Given the description of an element on the screen output the (x, y) to click on. 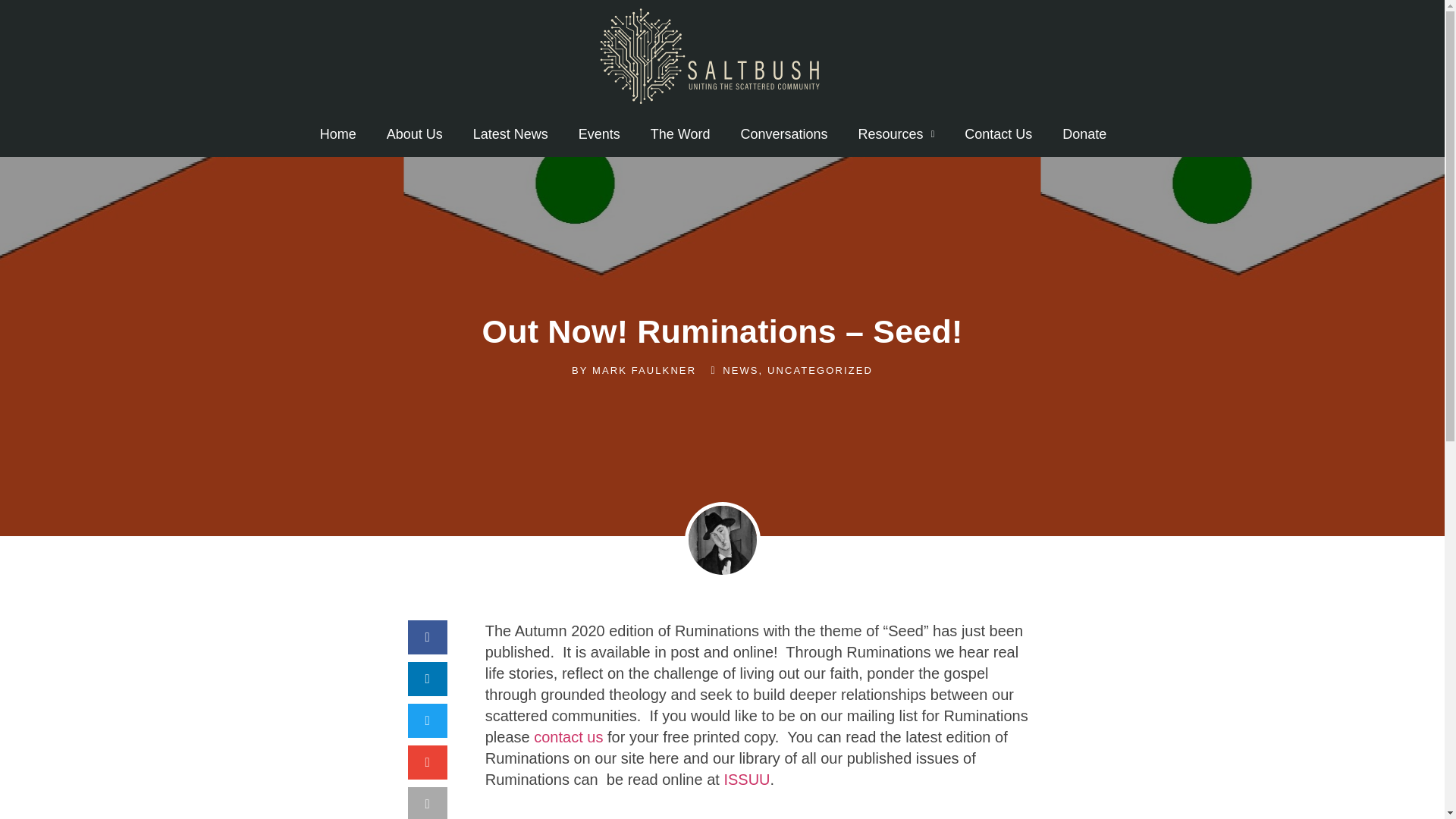
Latest News (510, 133)
About Us (414, 133)
Events (598, 133)
Resources (896, 133)
Home (337, 133)
Conversations (784, 133)
Contact Us (997, 133)
Donate (1083, 133)
The Word (679, 133)
